Given the description of an element on the screen output the (x, y) to click on. 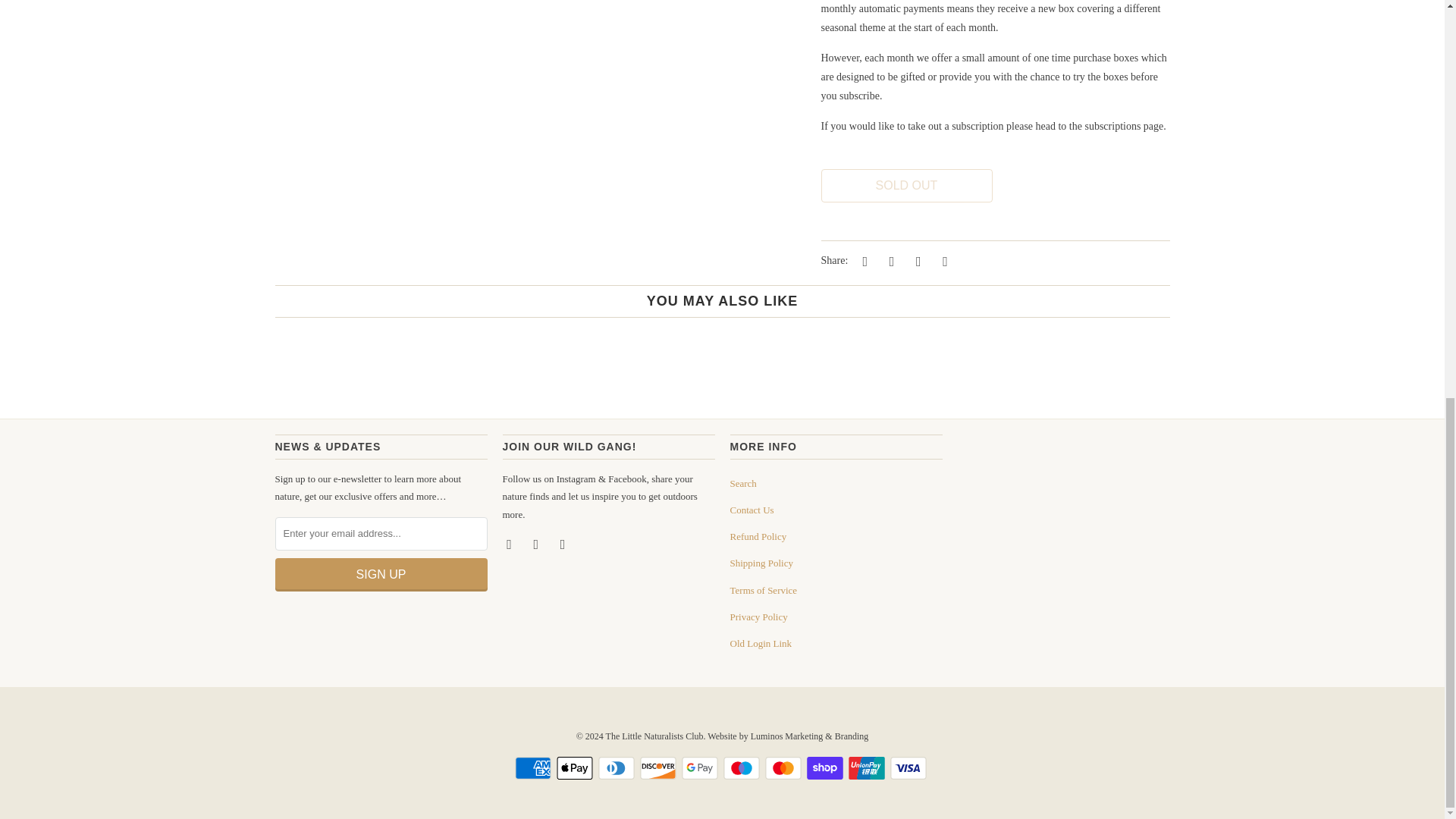
The Little Naturalists Club on Instagram (537, 543)
Union Pay (868, 767)
Discover (659, 767)
Email this to a friend (943, 260)
Sign Up (380, 574)
Share this on Twitter (862, 260)
Shop Pay (825, 767)
Diners Club (617, 767)
Visa (909, 767)
Share this on Facebook (889, 260)
Apple Pay (575, 767)
Email The Little Naturalists Club (564, 543)
Maestro (742, 767)
Mastercard (785, 767)
Share this on Pinterest (916, 260)
